Given the description of an element on the screen output the (x, y) to click on. 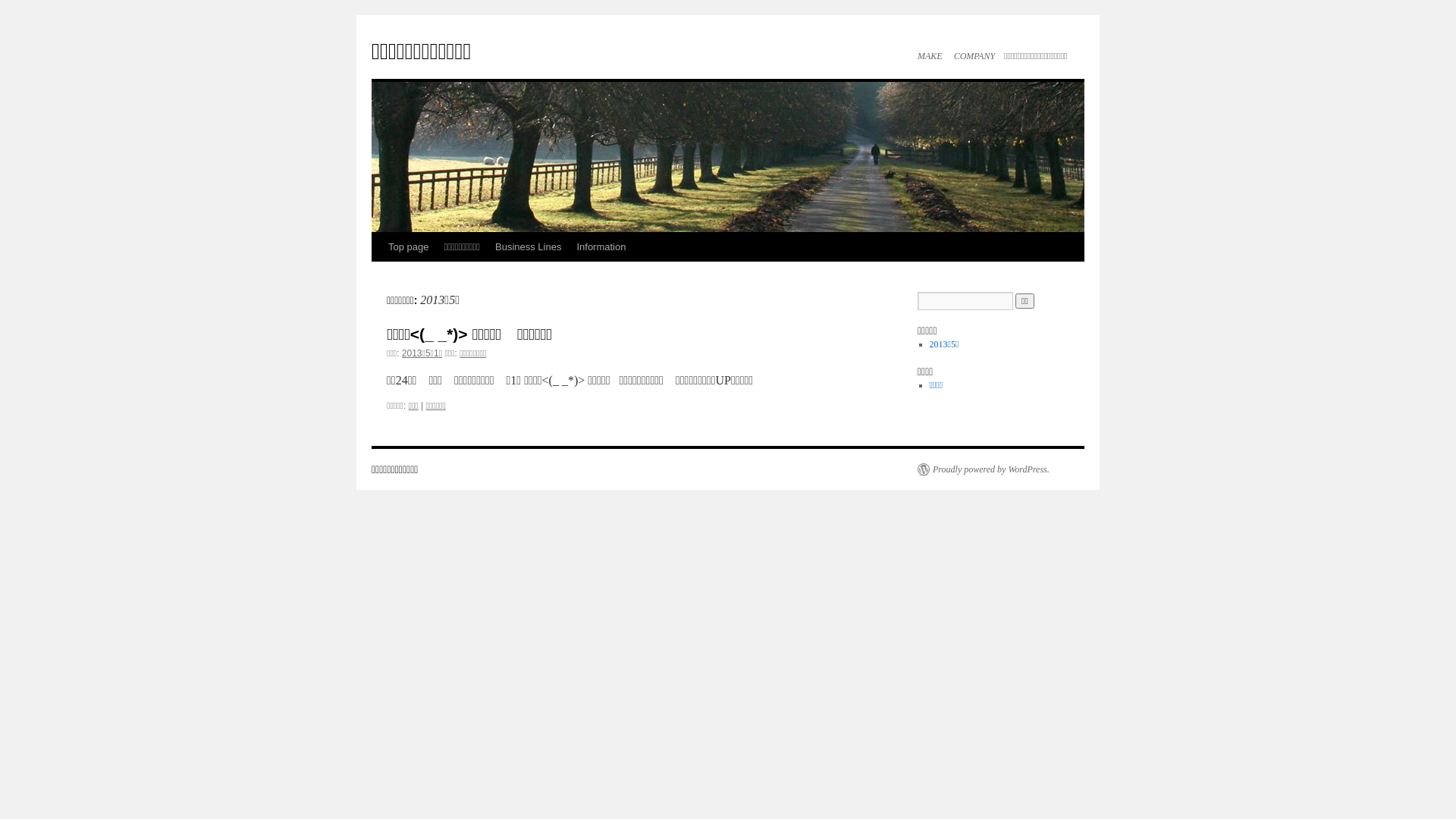
Top page Element type: text (408, 246)
Information Element type: text (600, 246)
Proudly powered by WordPress. Element type: text (983, 469)
Business Lines Element type: text (527, 246)
